Given the description of an element on the screen output the (x, y) to click on. 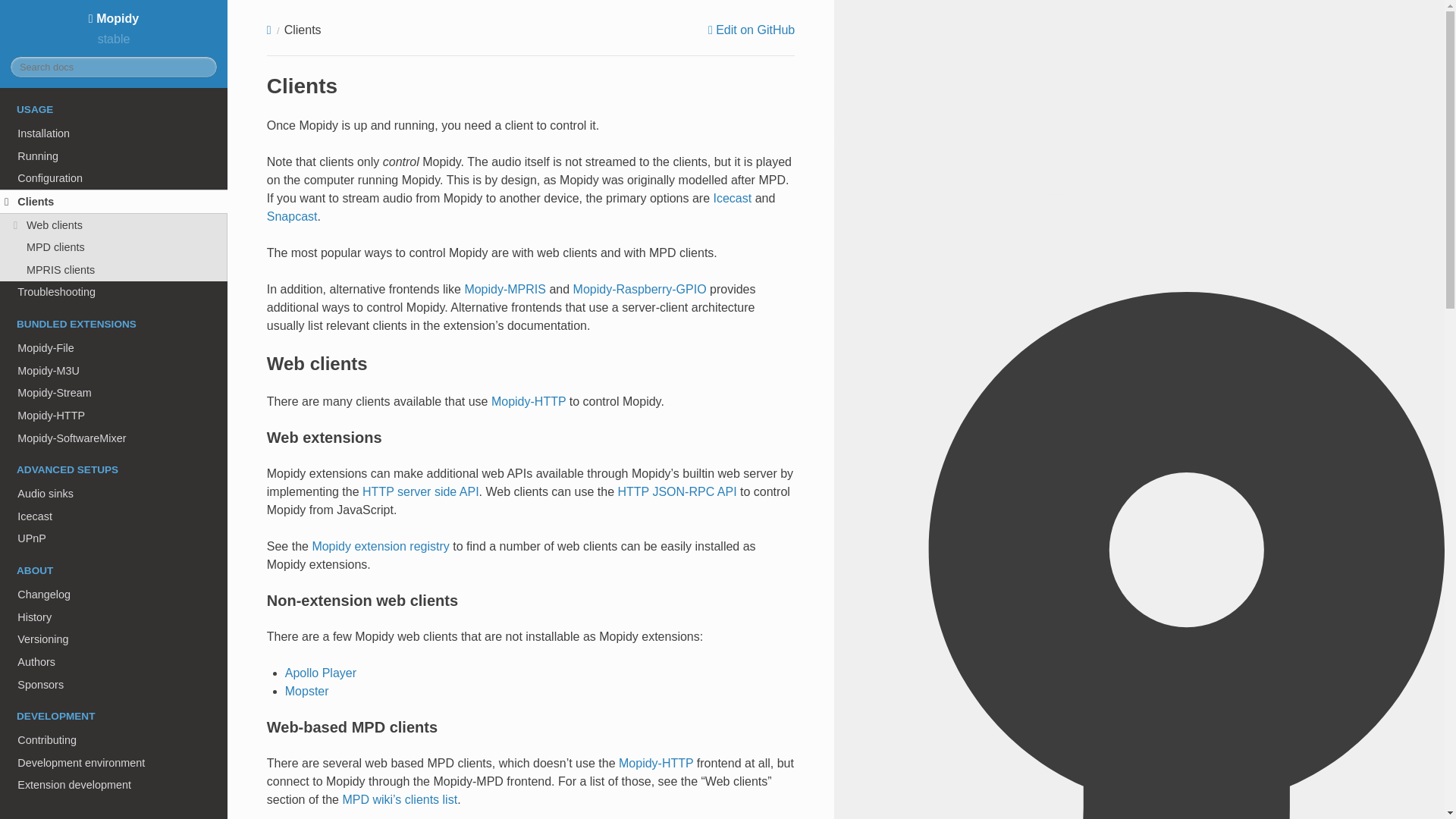
Troubleshooting (113, 292)
Authors (113, 661)
Mopidy-File (113, 347)
Mopidy (113, 18)
Edit on GitHub (750, 30)
Mopidy-SoftwareMixer (113, 437)
MPRIS clients (113, 269)
History (113, 617)
Development environment (113, 762)
Running (113, 155)
Mopidy-HTTP (113, 415)
Installation (113, 133)
Mopidy-Stream (113, 392)
UPnP (113, 538)
Configuration (113, 178)
